Given the description of an element on the screen output the (x, y) to click on. 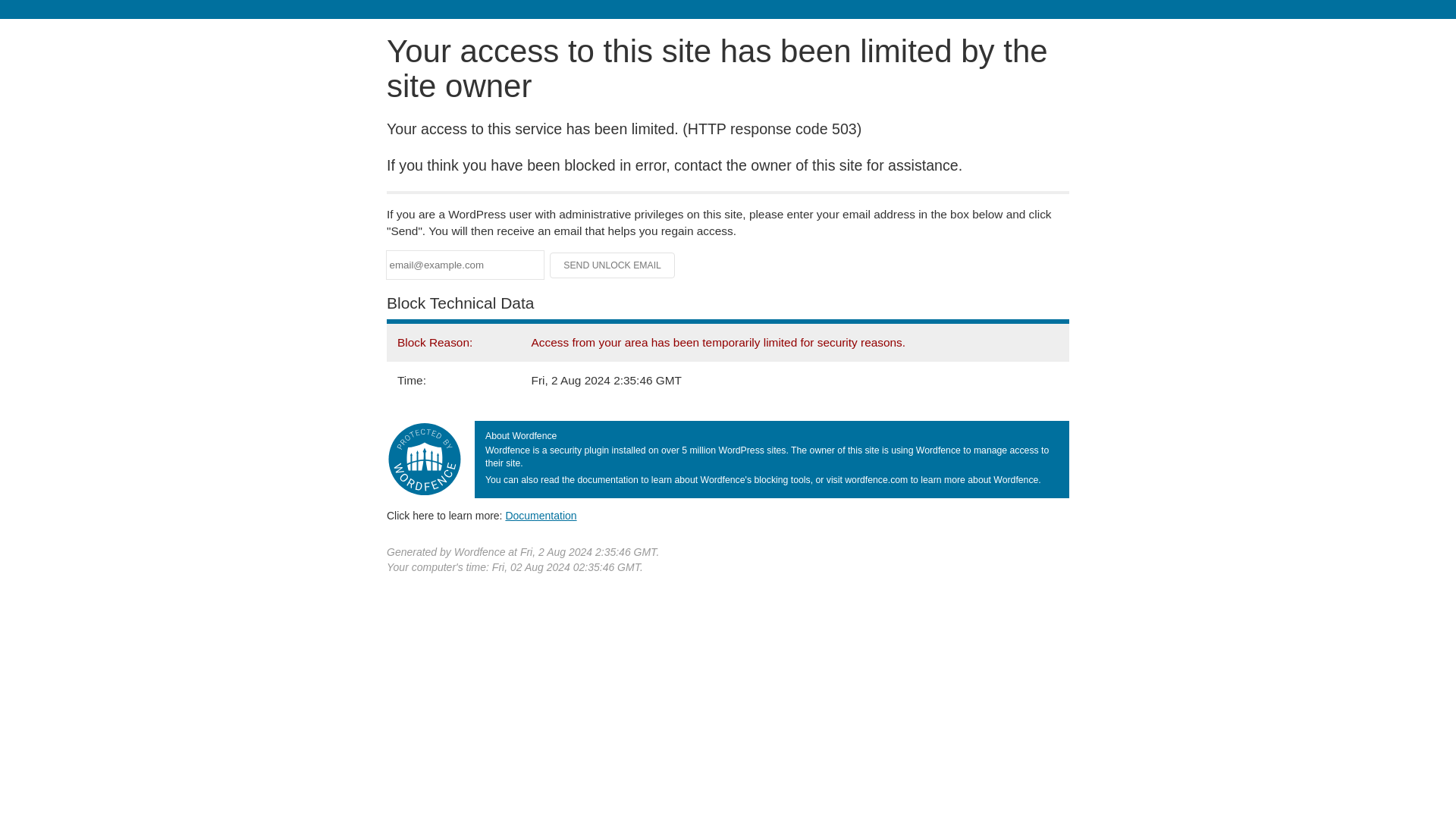
Send Unlock Email (612, 265)
Send Unlock Email (612, 265)
Documentation (540, 515)
